Given the description of an element on the screen output the (x, y) to click on. 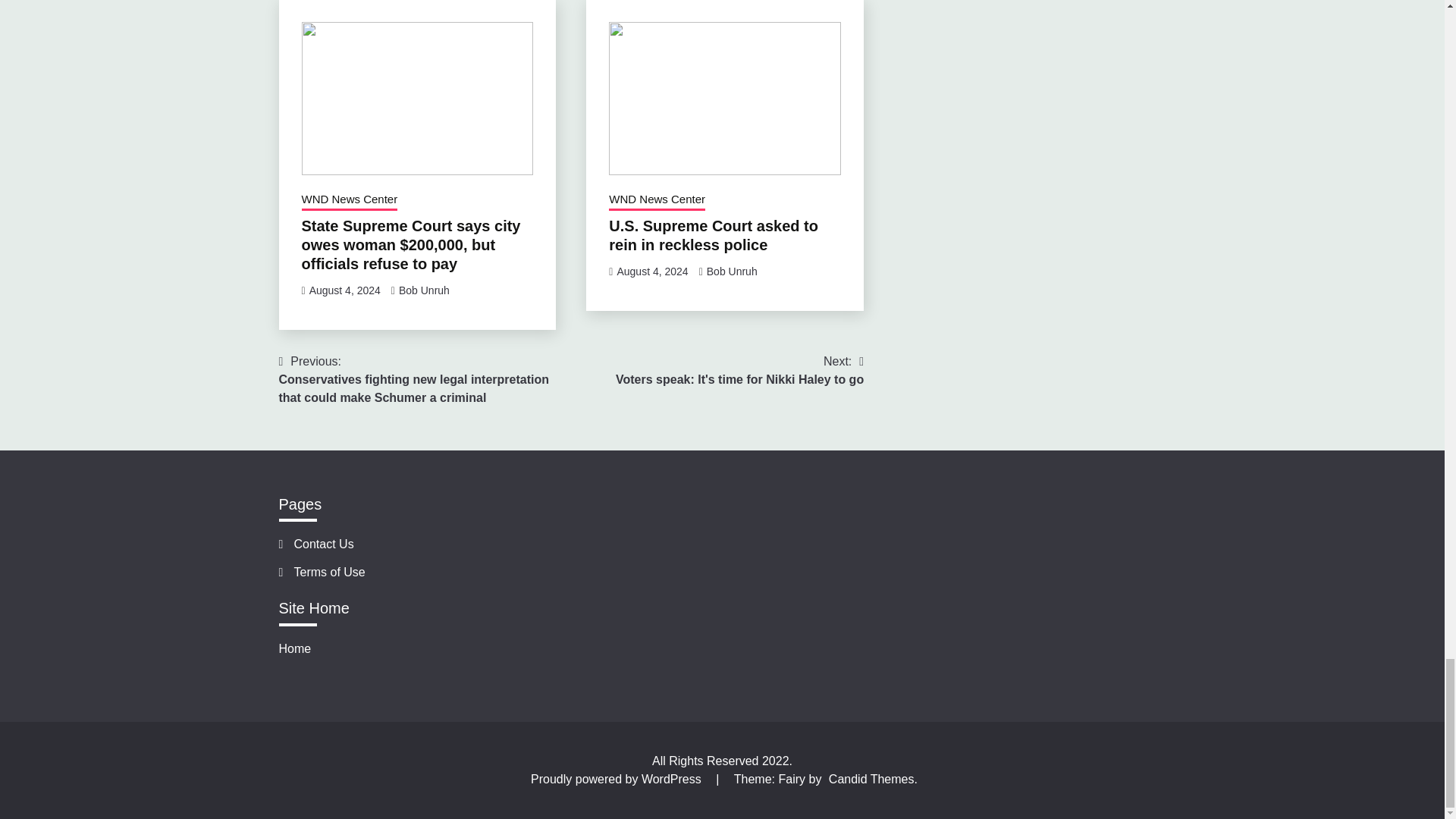
Bob Unruh (423, 290)
U.S. Supreme Court asked to rein in reckless police (713, 235)
August 4, 2024 (344, 290)
WND News Center (656, 200)
WND News Center (349, 200)
